Given the description of an element on the screen output the (x, y) to click on. 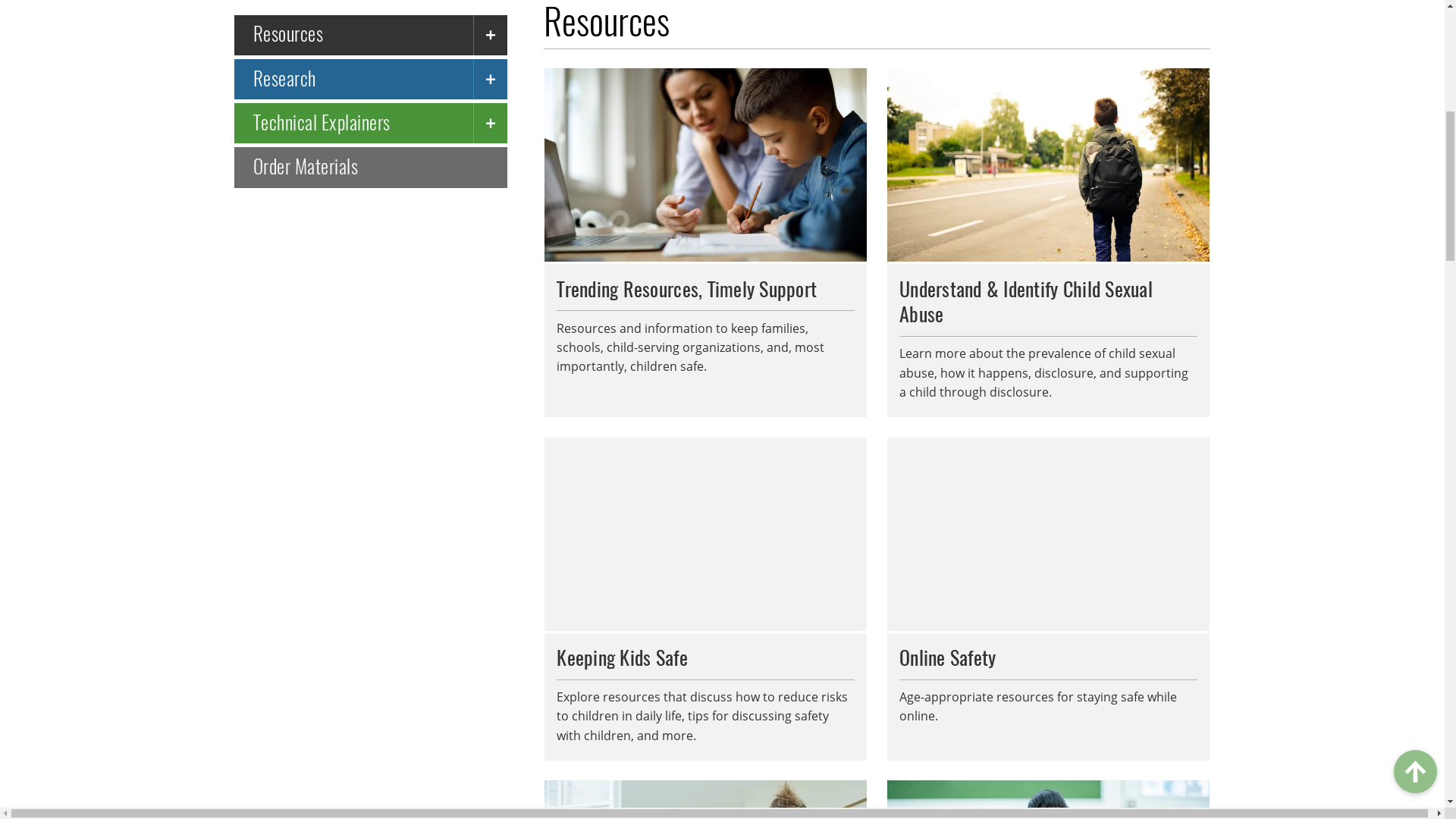
Technical Explainers Element type: text (353, 666)
Order Materials Element type: text (1016, 36)
Research Element type: text (353, 622)
Press & Media Element type: text (1112, 36)
SURVIVOR & FAMILY SUPPORT Element type: text (800, 139)
About Us Element type: text (878, 36)
Resources Element type: text (353, 578)
GET INVOLVED Element type: text (276, 139)
REPORT A CONCERN Element type: text (1107, 143)
SEARCH Element type: text (1195, 70)
Order Materials Element type: text (370, 710)
RESOURCES & RESEARCH Element type: text (603, 139)
Donate Element type: text (938, 36)
PROGRAMS & INITIATIVES Element type: text (423, 139)
